Given the description of an element on the screen output the (x, y) to click on. 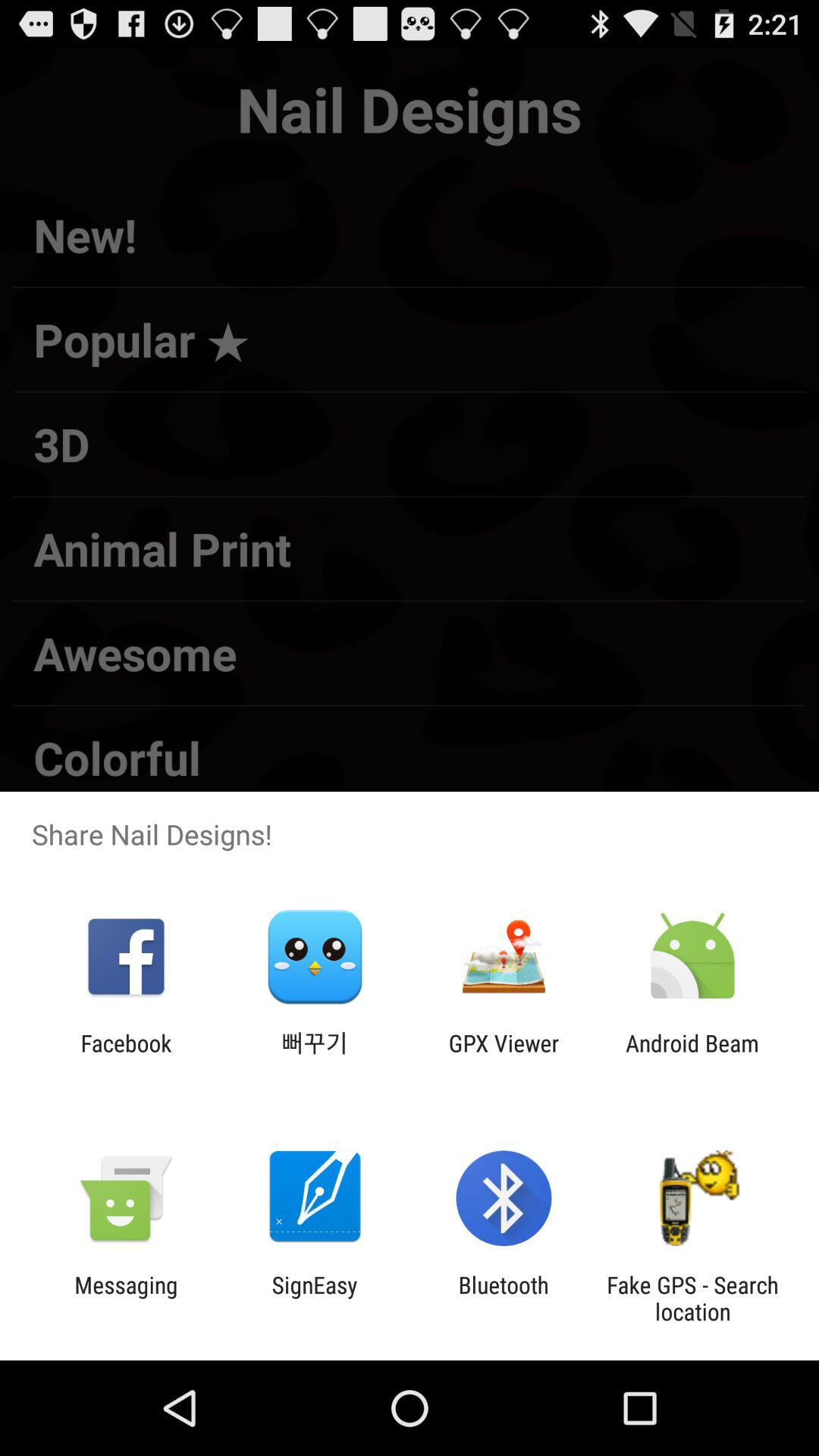
launch the icon to the right of the signeasy (503, 1298)
